Given the description of an element on the screen output the (x, y) to click on. 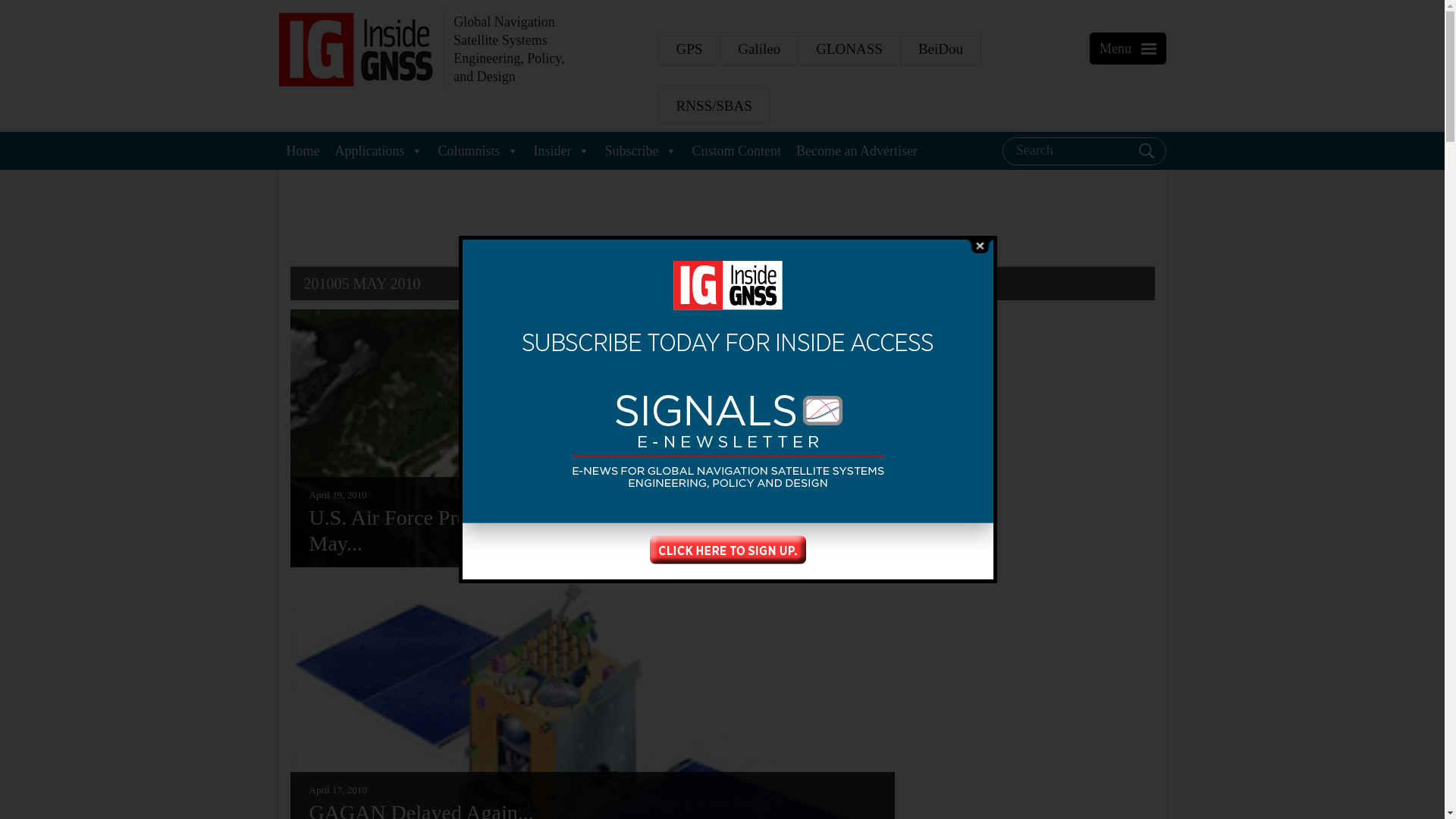
3rd party ad content (1030, 609)
Columnists (477, 150)
Custom Content (736, 150)
Applications (378, 150)
Subscribe (640, 150)
3rd party ad content (1030, 770)
GLONASS (849, 48)
Home (303, 150)
GAGAN Delayed Again (591, 795)
Become an Advertiser (856, 150)
BeiDou (940, 48)
GPS (689, 48)
Insider (560, 150)
3rd party ad content (1030, 403)
